Given the description of an element on the screen output the (x, y) to click on. 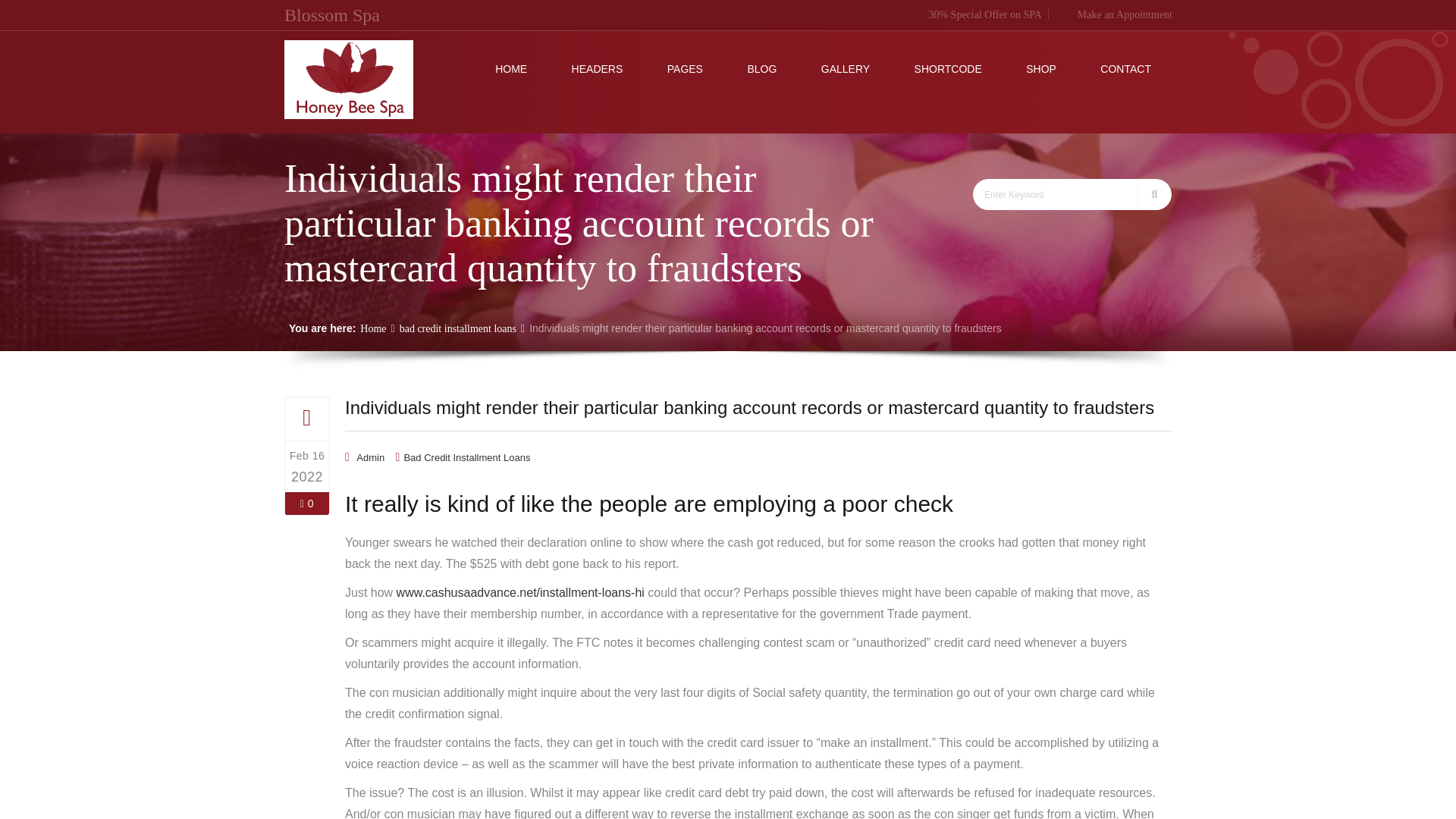
HOME (510, 68)
Enter Keyword (1056, 194)
View all posts by admin (370, 457)
BLOG (761, 68)
Go (1154, 194)
PAGES (684, 68)
HEADERS (597, 68)
Make an Appointment (1113, 13)
GALLERY (845, 68)
